Given the description of an element on the screen output the (x, y) to click on. 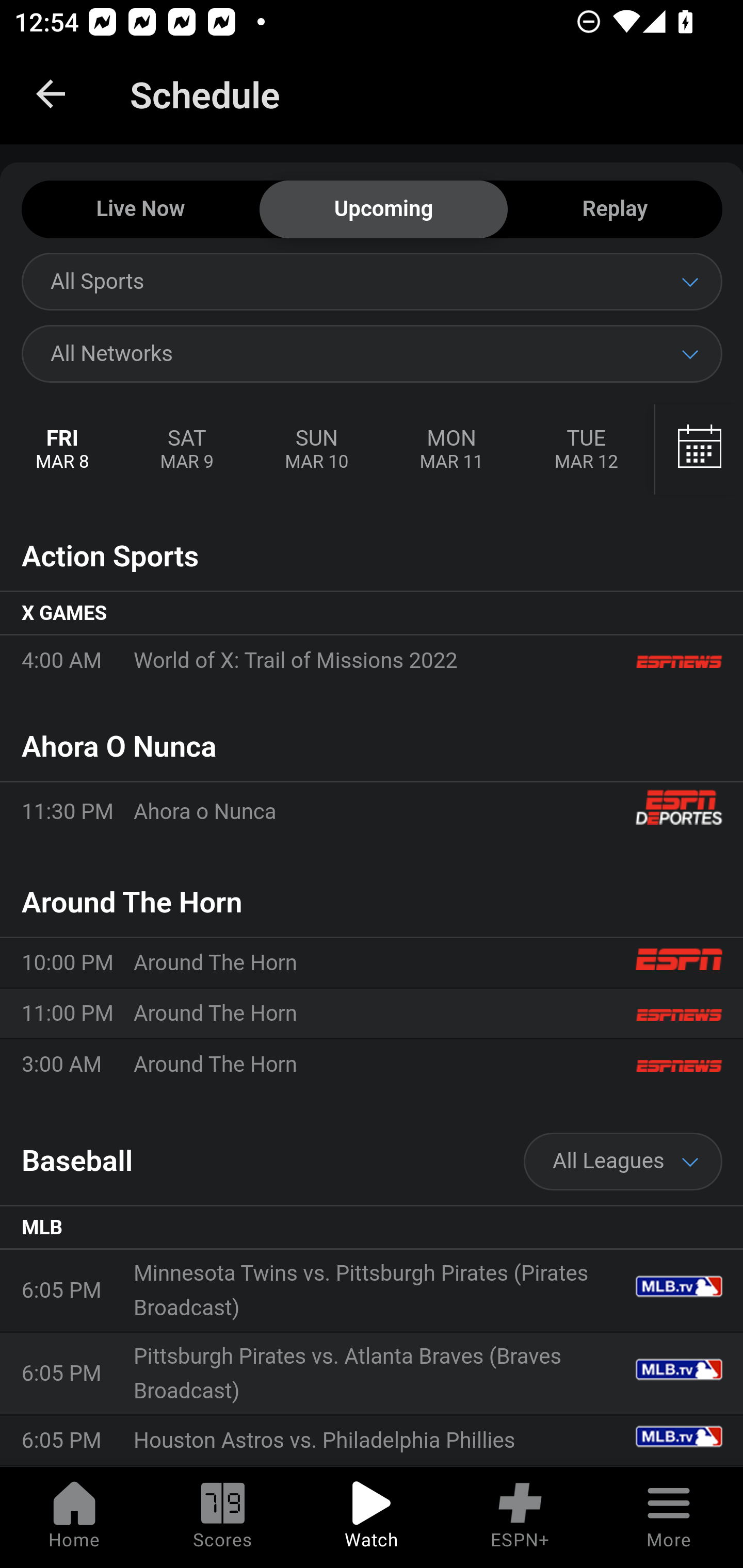
back.button (50, 93)
Live Now (140, 209)
Upcoming (382, 209)
Replay (614, 209)
All Sports (371, 281)
All Networks (371, 353)
FRI MAR 8 (63, 449)
SAT MAR 9 (186, 449)
SUN MAR 10 (316, 449)
MON MAR 11 (451, 449)
TUE MAR 12 (586, 449)
WED MAR 13 (697, 449)
All Leagues (622, 1161)
Home (74, 1517)
Scores (222, 1517)
ESPN+ (519, 1517)
More (668, 1517)
